Given the description of an element on the screen output the (x, y) to click on. 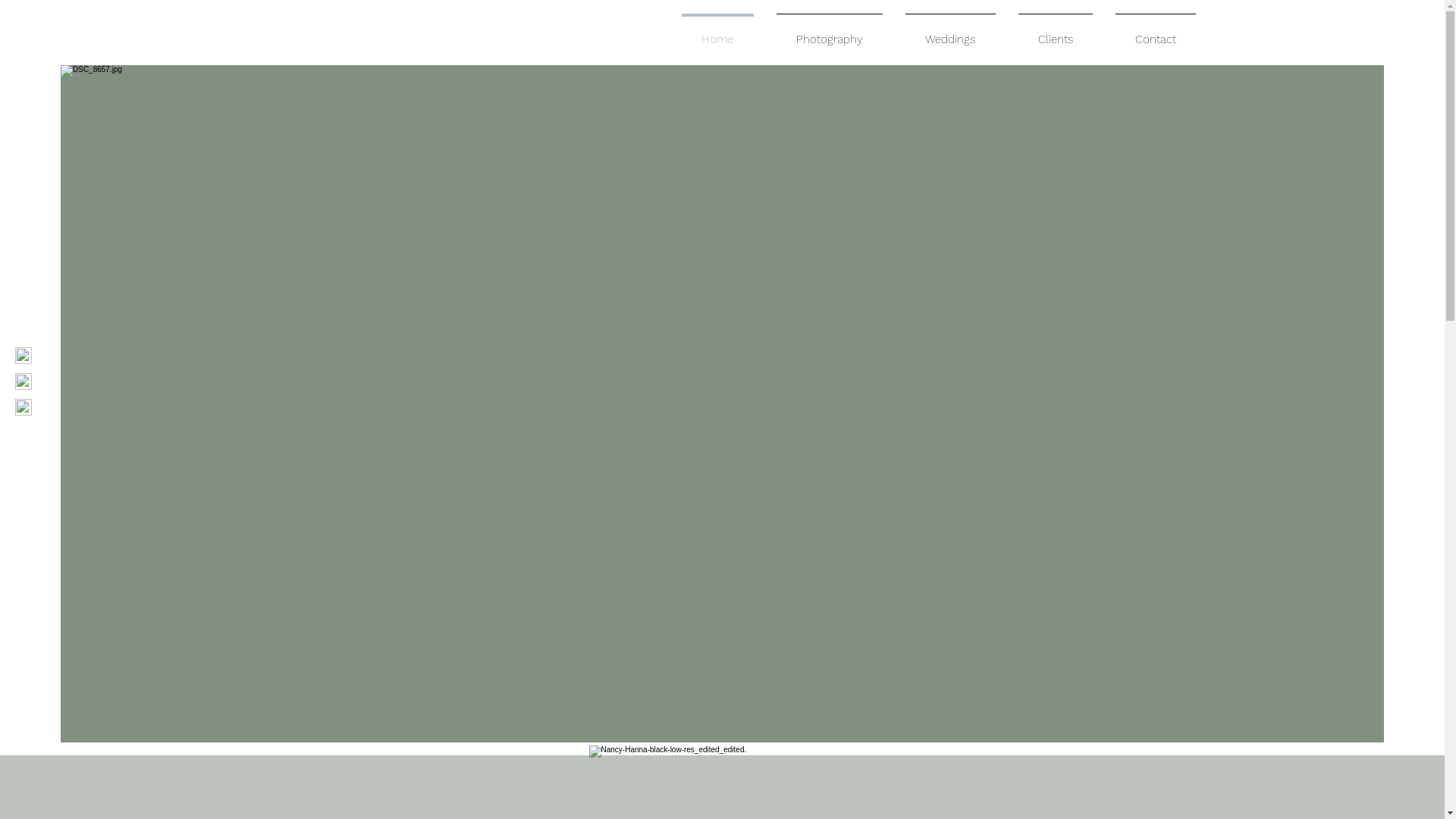
Contact Element type: text (1155, 32)
Home Element type: text (717, 32)
Clients Element type: text (1055, 32)
